Given the description of an element on the screen output the (x, y) to click on. 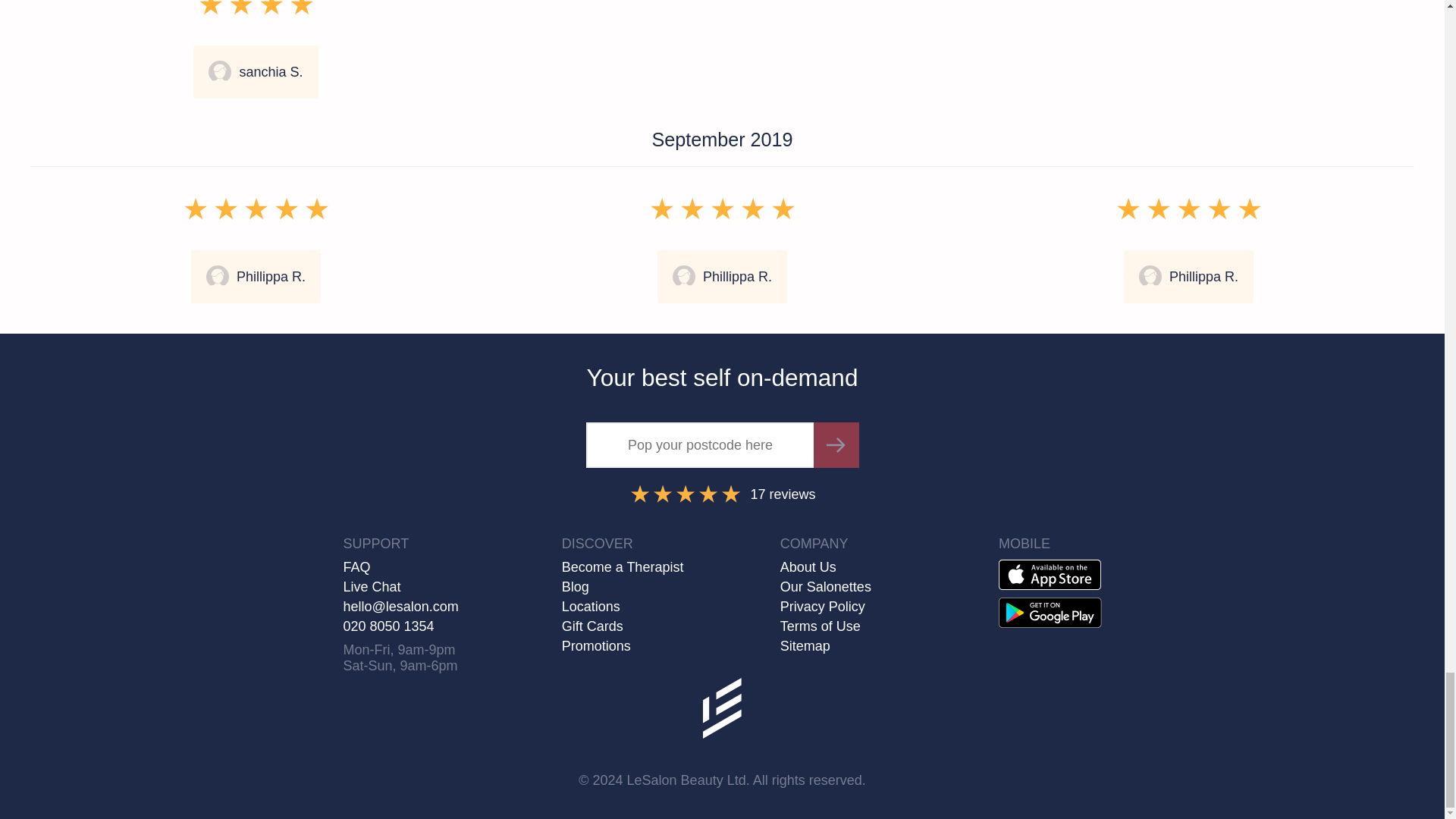
Live Chat (436, 587)
FAQ (436, 567)
